Given the description of an element on the screen output the (x, y) to click on. 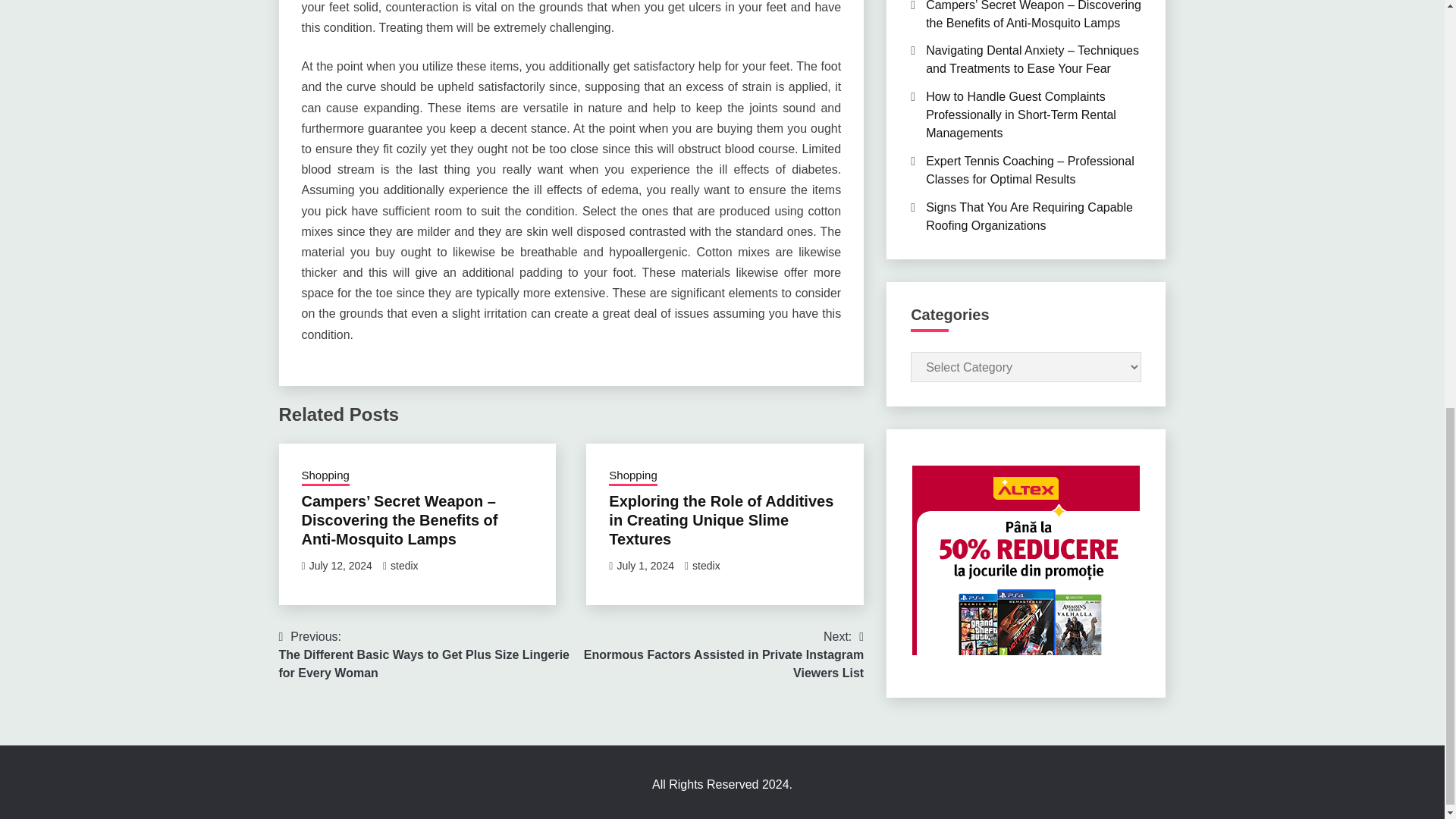
stedix (706, 565)
stedix (404, 565)
July 1, 2024 (644, 565)
July 12, 2024 (340, 565)
Shopping (632, 476)
Shopping (325, 476)
